Given the description of an element on the screen output the (x, y) to click on. 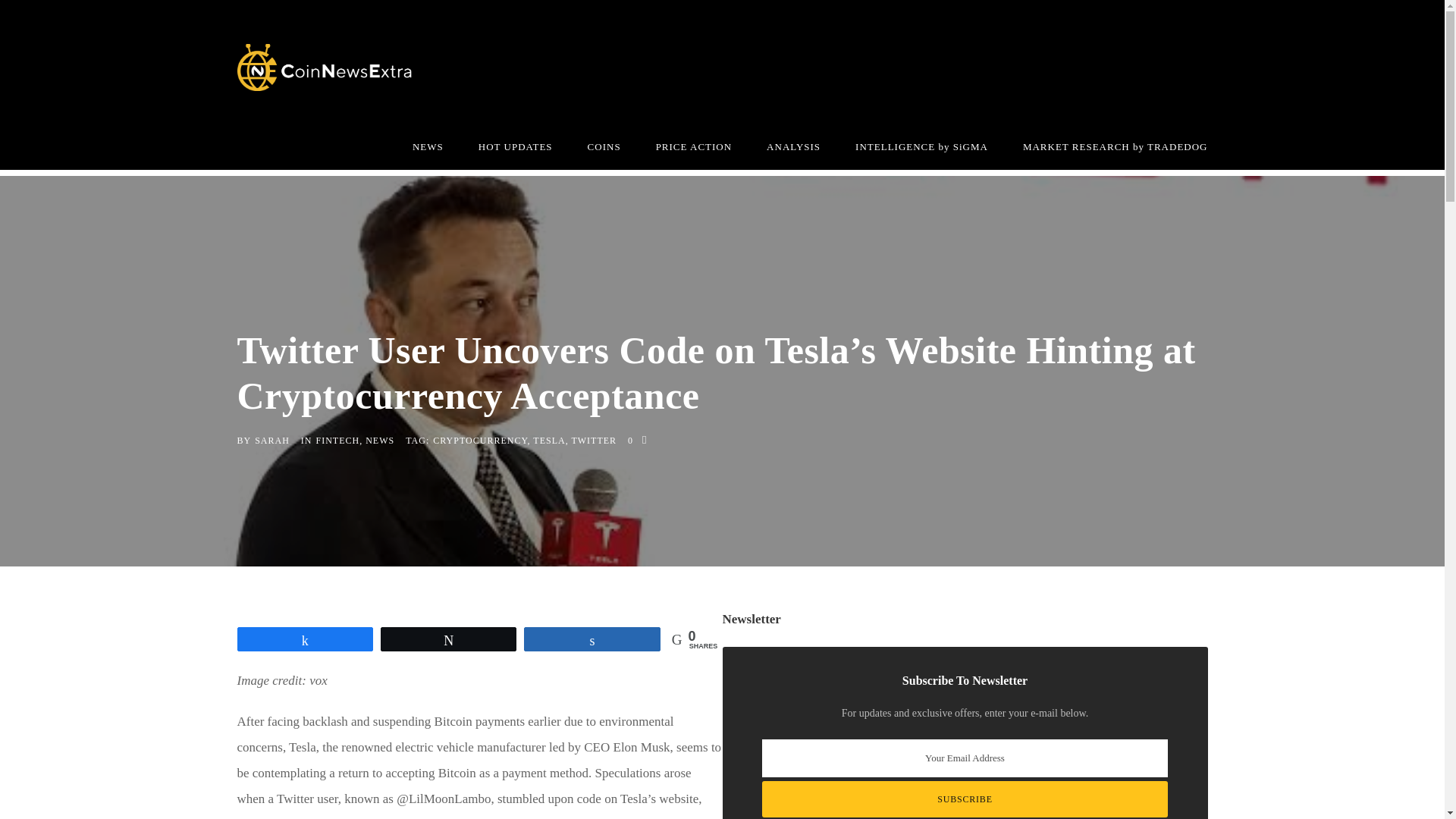
FINTECH (337, 439)
TESLA (548, 439)
NEWS (379, 439)
SARAH (271, 439)
Subscribe (964, 799)
ANALYSIS (794, 153)
COINS (604, 153)
NEWS (428, 153)
CRYPTOCURRENCY (479, 439)
Posts by Sarah (271, 439)
